Given the description of an element on the screen output the (x, y) to click on. 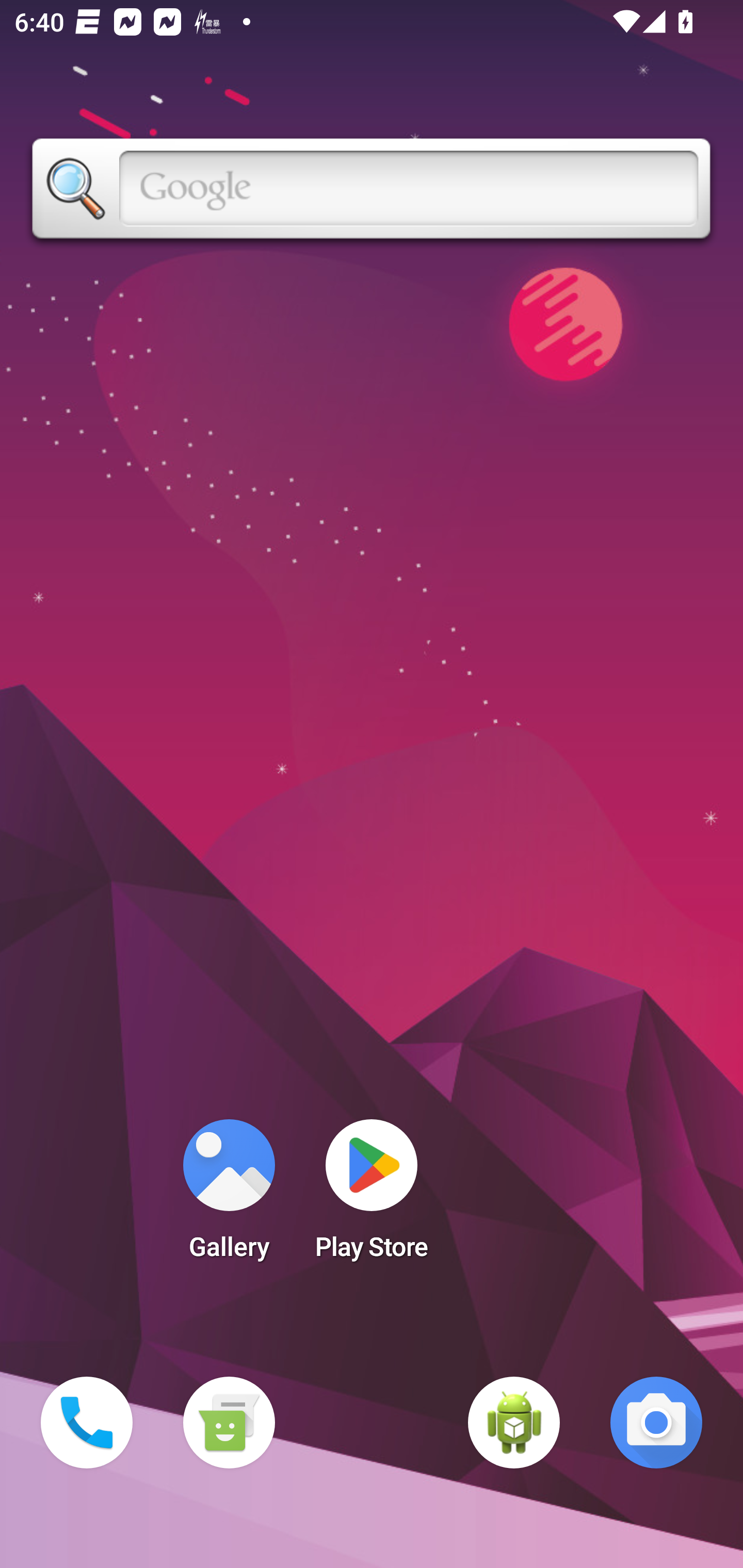
Gallery (228, 1195)
Play Store (371, 1195)
Phone (86, 1422)
Messaging (228, 1422)
WebView Browser Tester (513, 1422)
Camera (656, 1422)
